Given the description of an element on the screen output the (x, y) to click on. 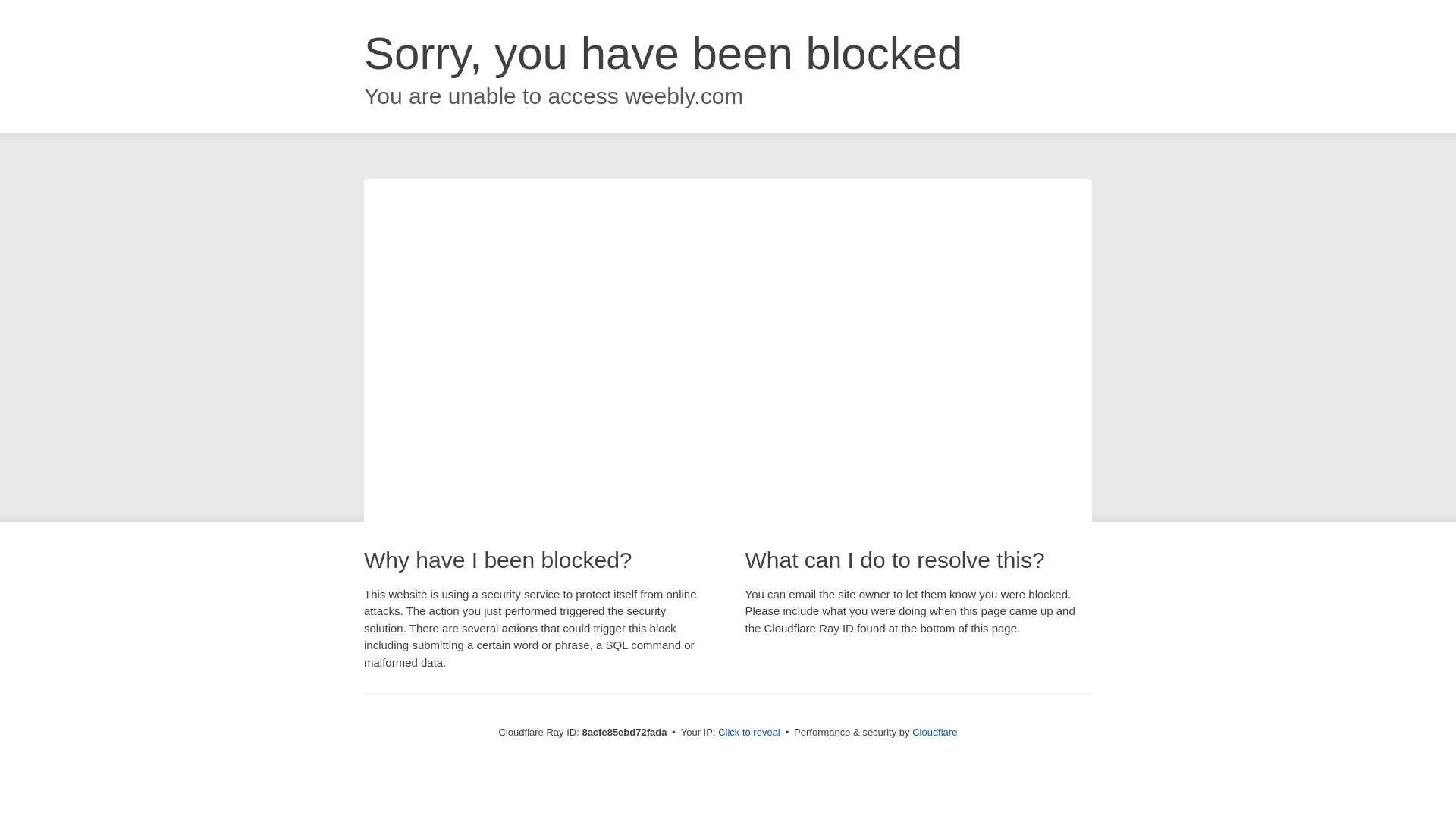
Cloudflare (934, 731)
Click to reveal (748, 732)
